Given the description of an element on the screen output the (x, y) to click on. 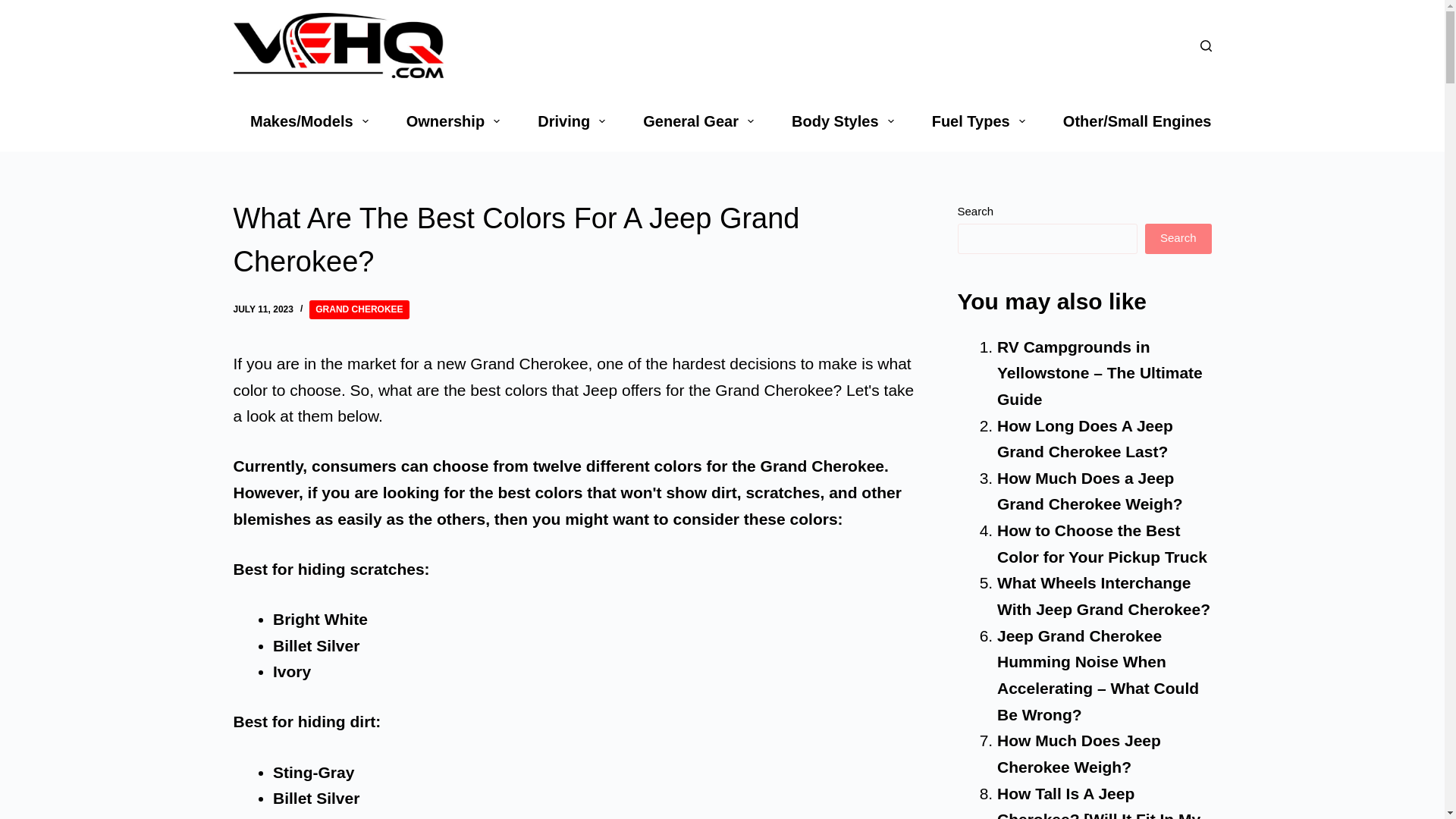
Skip to content (15, 7)
What Are The Best Colors For A Jeep Grand Cherokee? (575, 240)
